Given the description of an element on the screen output the (x, y) to click on. 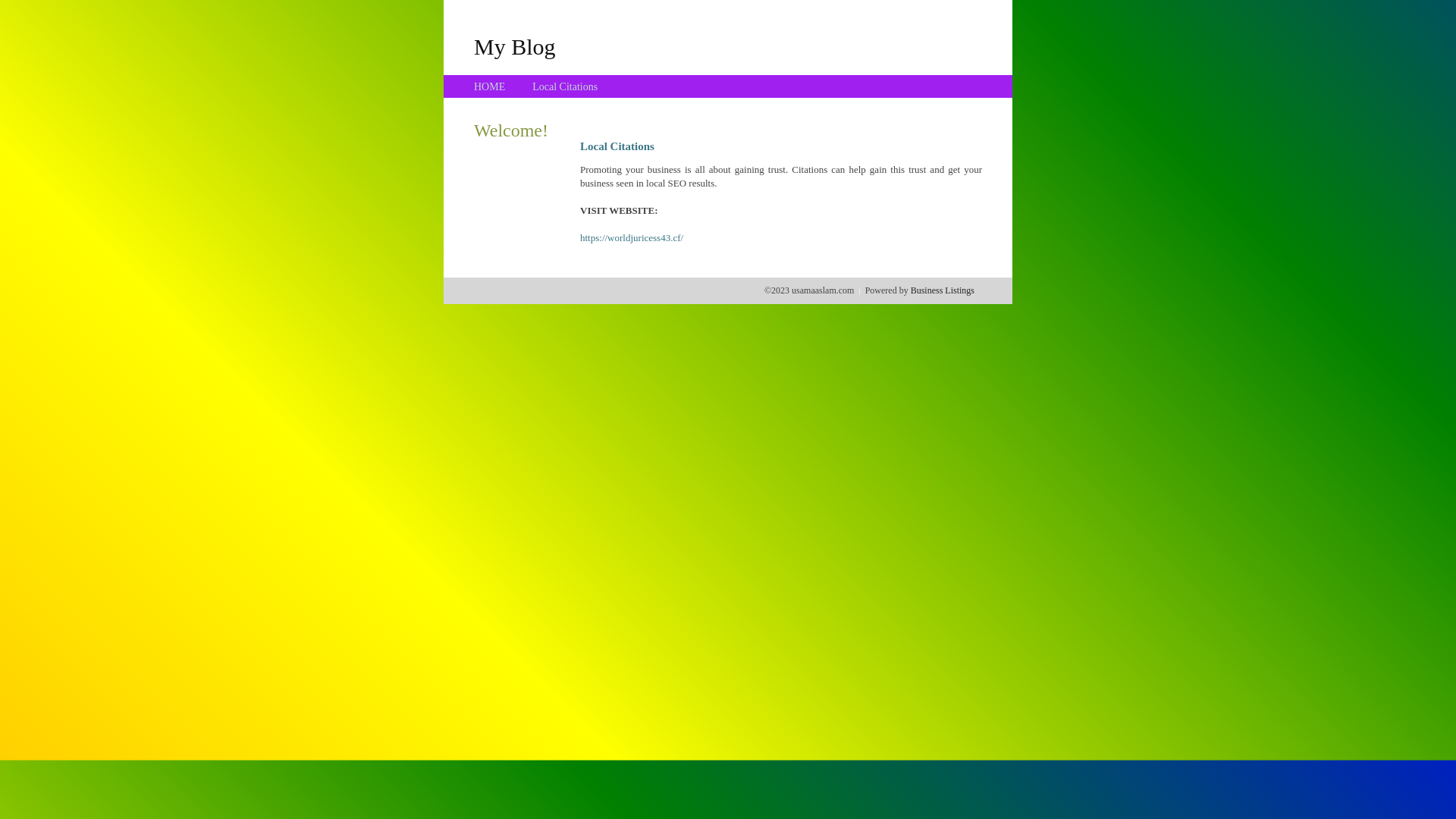
HOME Element type: text (489, 86)
https://worldjuricess43.cf/ Element type: text (631, 237)
Local Citations Element type: text (564, 86)
My Blog Element type: text (514, 46)
Business Listings Element type: text (942, 290)
